Given the description of an element on the screen output the (x, y) to click on. 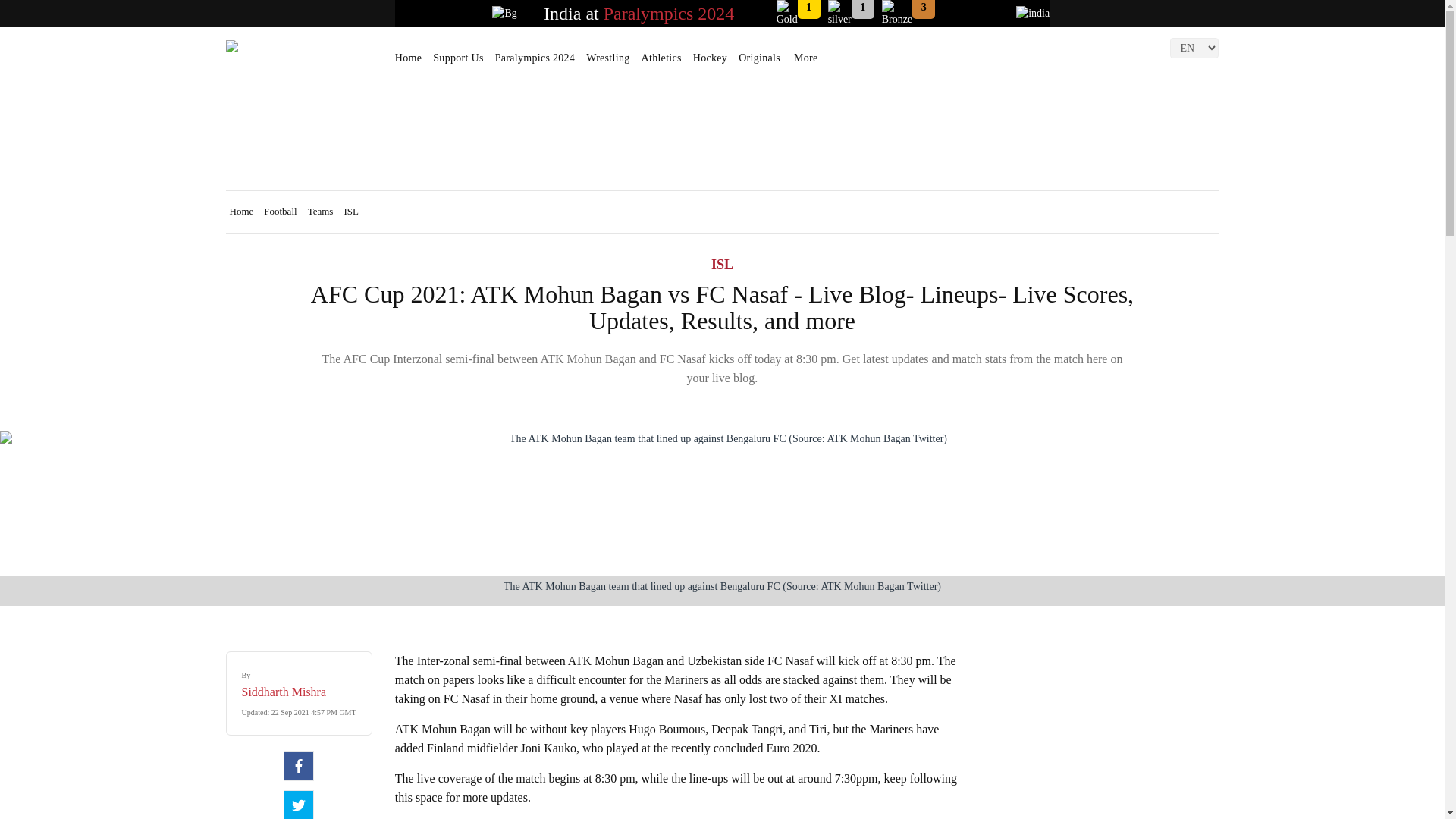
Support Us (457, 63)
Paralympics 2024 (535, 63)
Wrestling (607, 63)
Paralympics 2024 (669, 13)
